Given the description of an element on the screen output the (x, y) to click on. 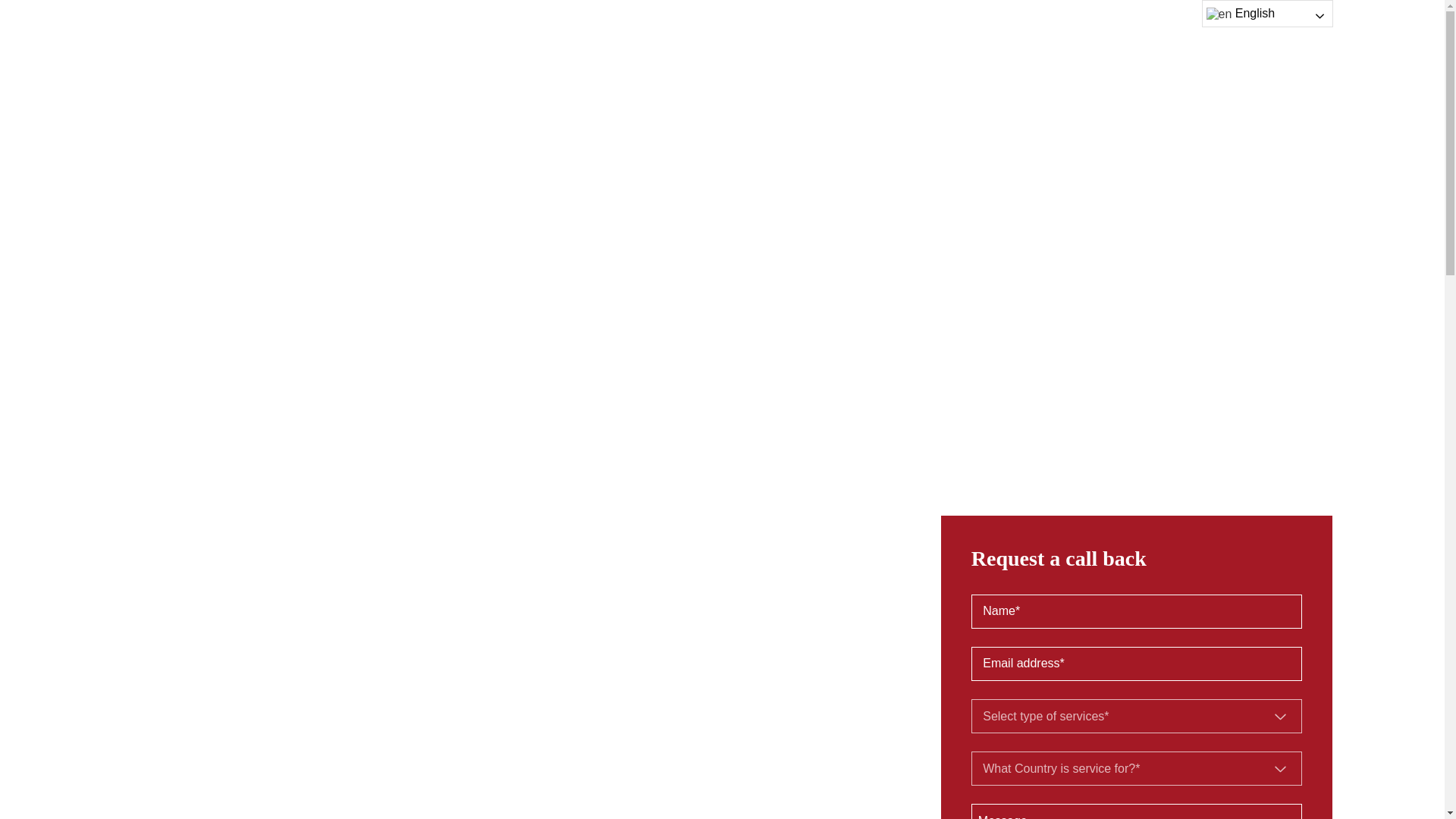
Castelo Solicitors (176, 41)
About us (643, 42)
Portugal Legal Services (1036, 42)
English (1266, 13)
UK Legal Services (891, 42)
Family Law Services (753, 42)
